Given the description of an element on the screen output the (x, y) to click on. 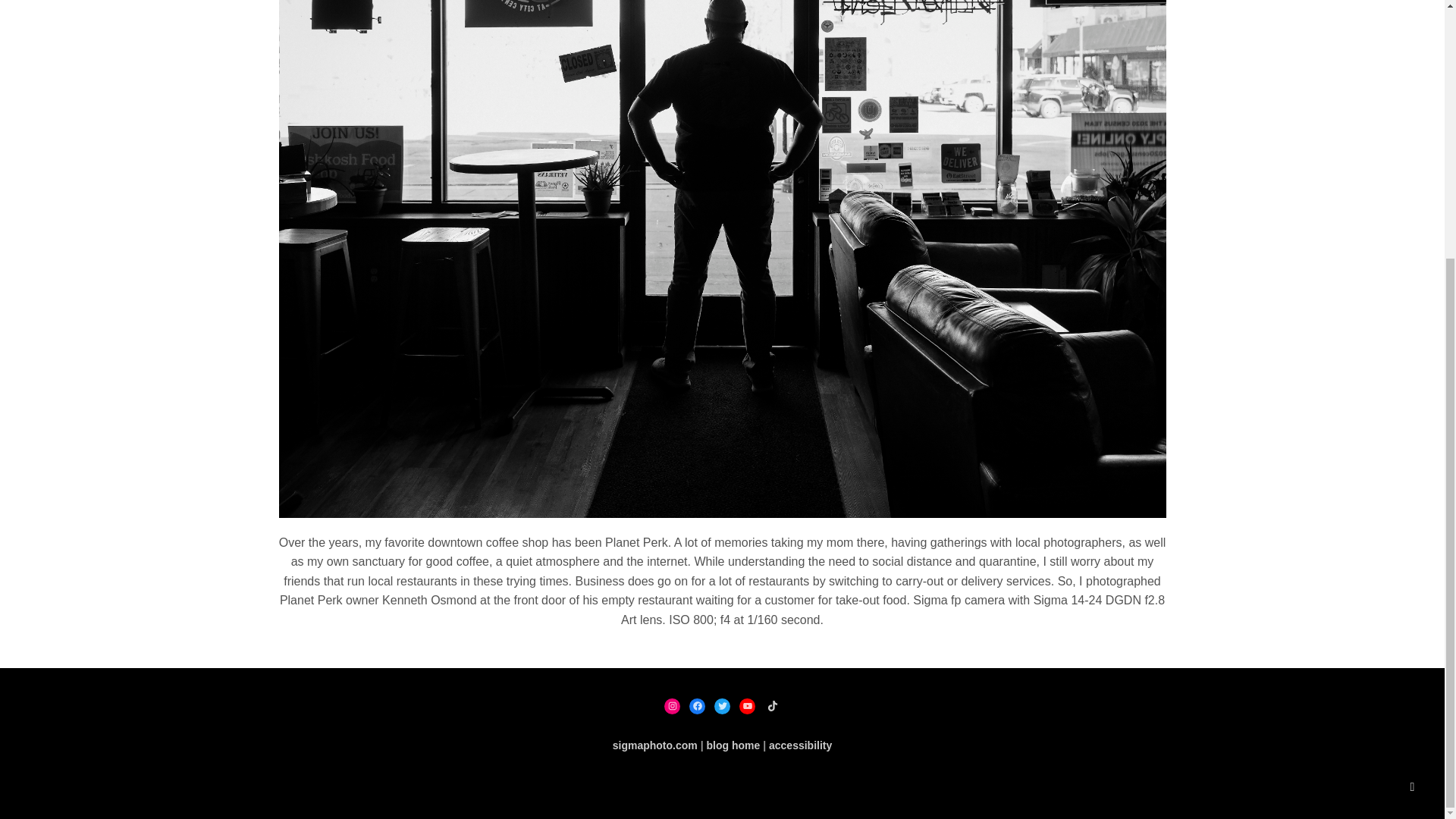
accessibility (799, 745)
sigmaphoto.com (654, 745)
blog home (733, 745)
